Given the description of an element on the screen output the (x, y) to click on. 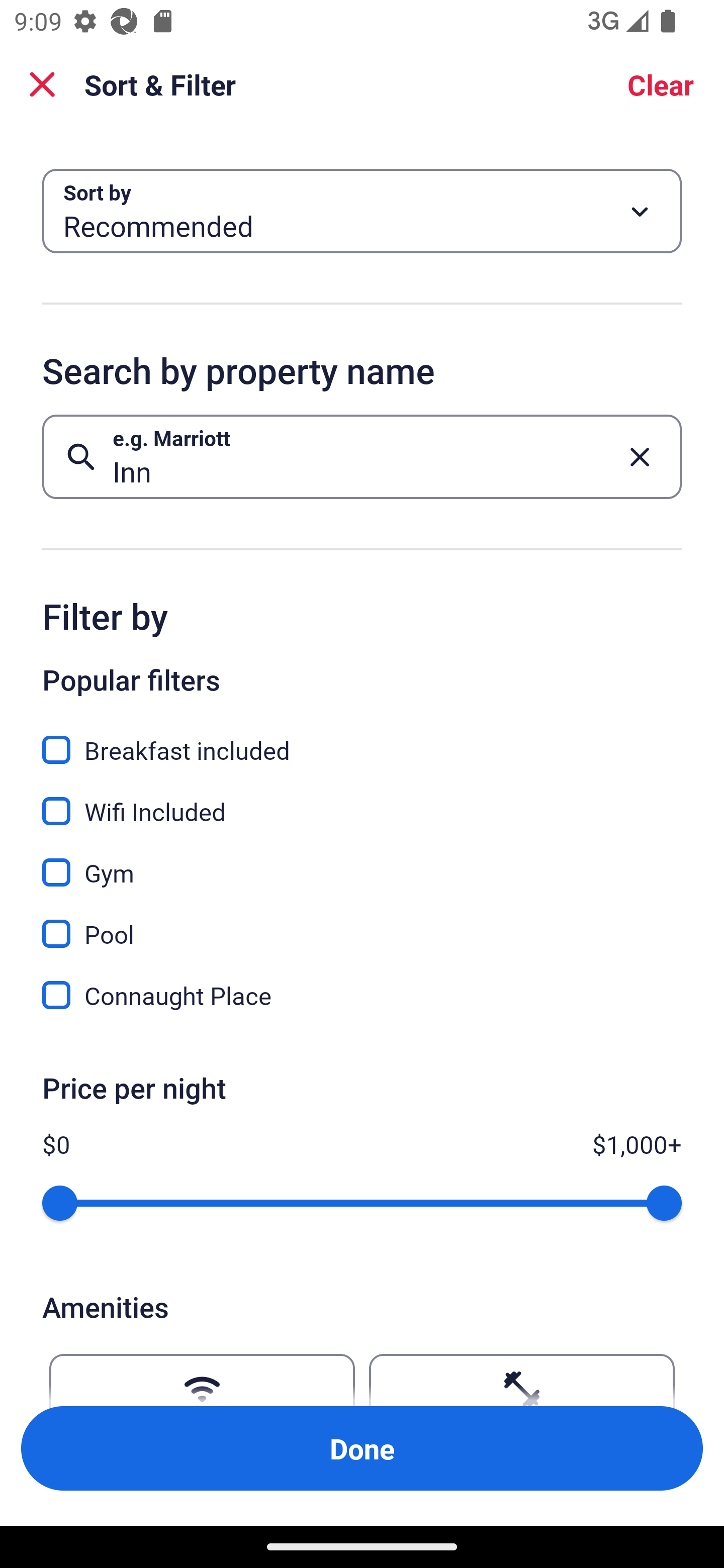
Close Sort and Filter (42, 84)
Clear (660, 84)
Sort by Button Recommended (361, 211)
e.g. Marriott Button Inn (361, 455)
Breakfast included, Breakfast included (361, 738)
Wifi Included, Wifi Included (361, 800)
Gym, Gym (361, 861)
Pool, Pool (361, 922)
Connaught Place, Connaught Place (361, 995)
Apply and close Sort and Filter Done (361, 1448)
